Given the description of an element on the screen output the (x, y) to click on. 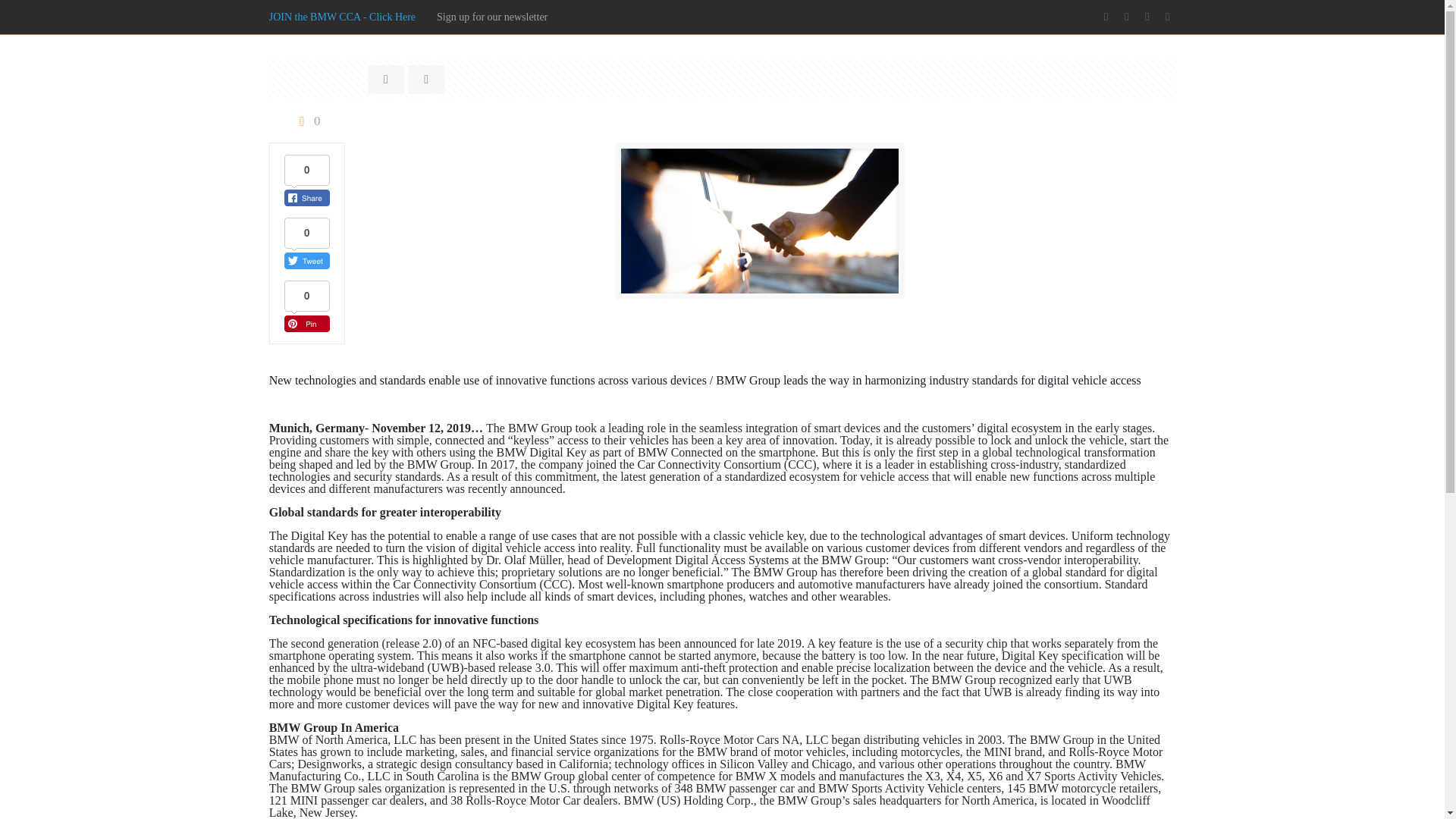
0 (306, 120)
Instagram (1166, 16)
Facebook (1105, 16)
Sign up for our newsletter (491, 16)
YouTube (1146, 16)
Twitter (1126, 16)
JOIN the BMW CCA - Click Here (341, 16)
